Given the description of an element on the screen output the (x, y) to click on. 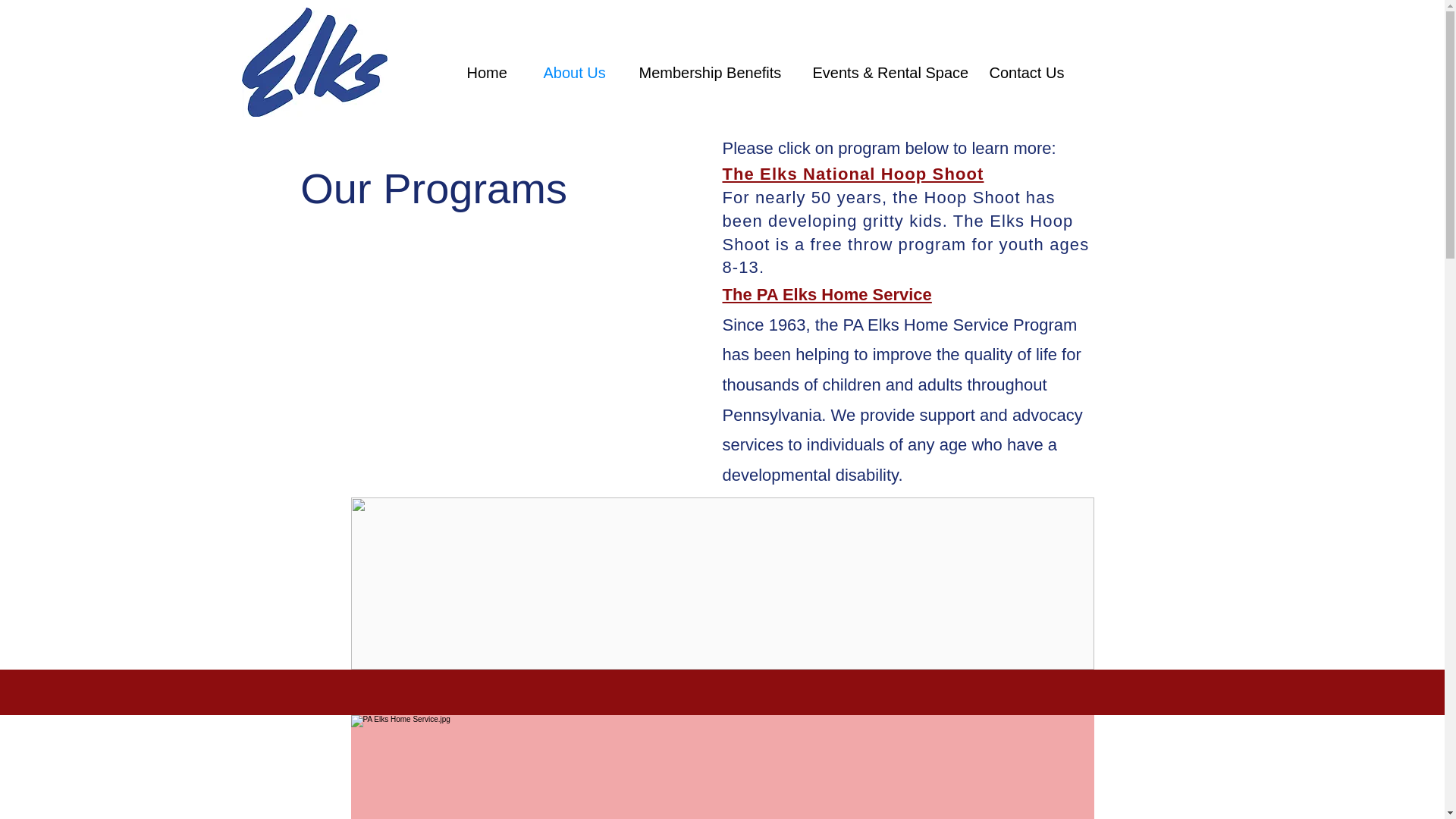
Membership Benefits (714, 72)
The Elks National Hoop Shoot (853, 173)
Home (492, 72)
Contact Us (1031, 72)
The PA Elks Home Service (826, 294)
elks lodge.jpeg (314, 62)
About Us (579, 72)
